Given the description of an element on the screen output the (x, y) to click on. 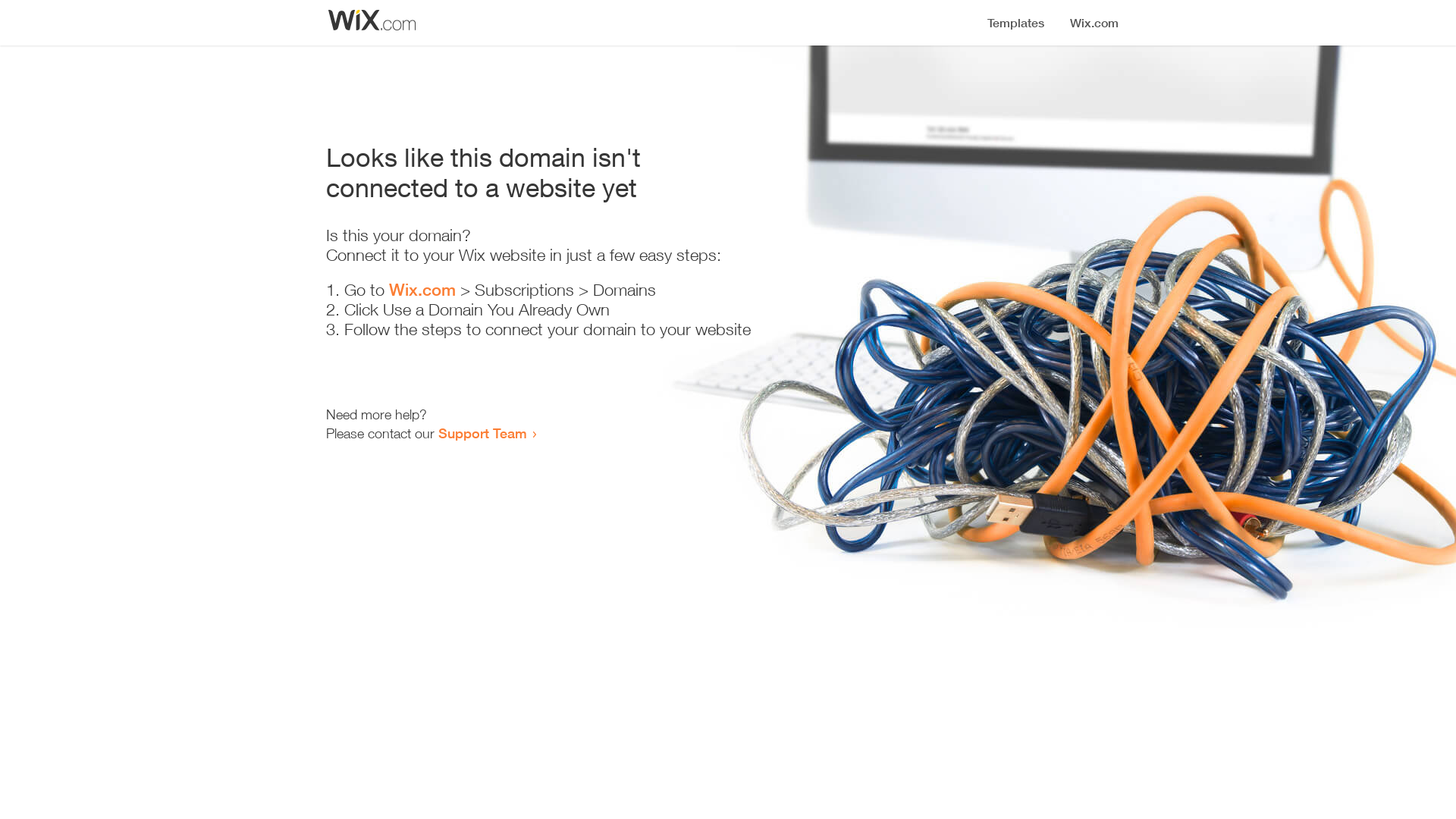
Support Team Element type: text (482, 432)
Wix.com Element type: text (422, 289)
